Given the description of an element on the screen output the (x, y) to click on. 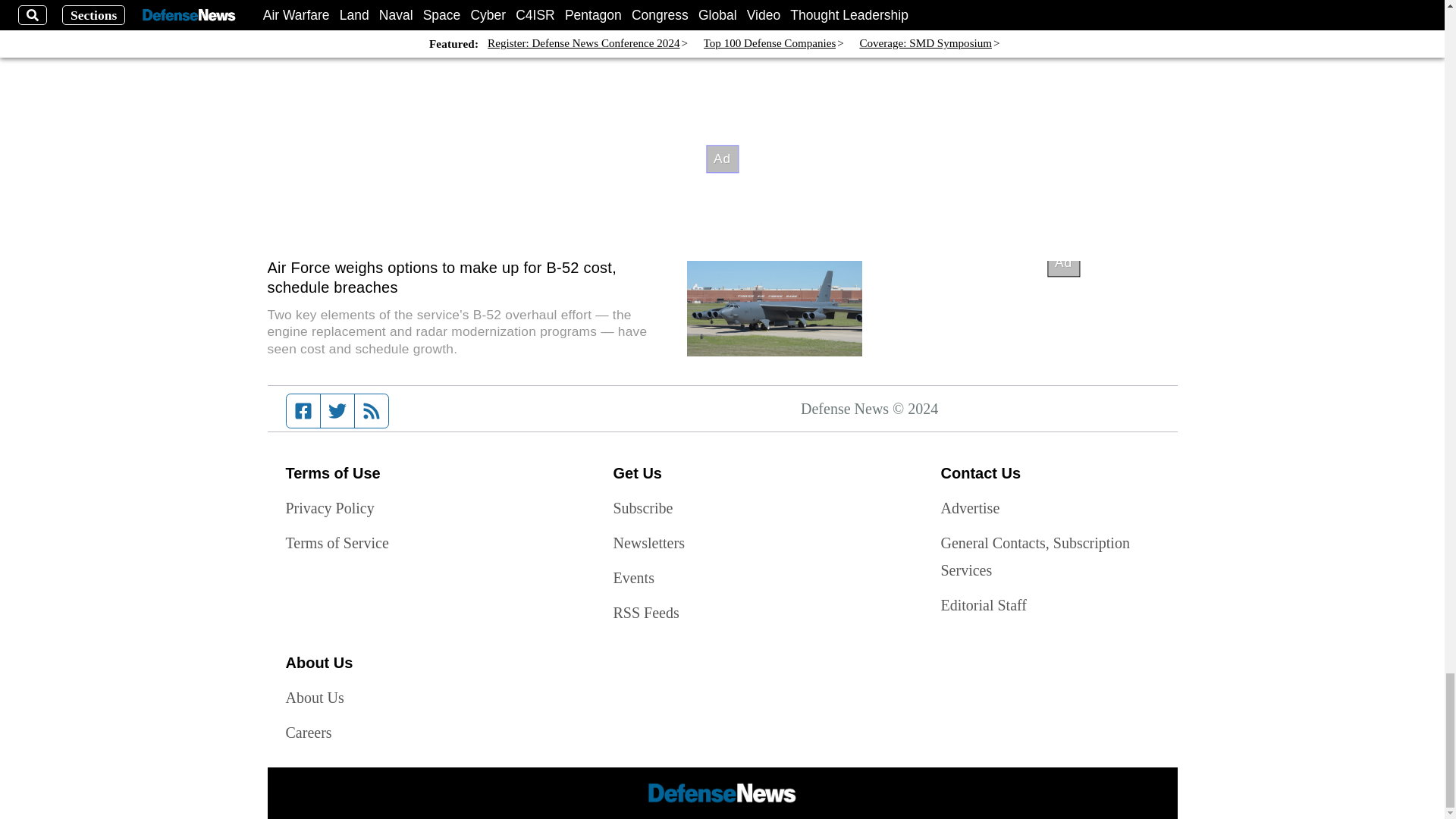
Twitter feed (336, 410)
RSS feed (371, 410)
Facebook page (303, 410)
